Given the description of an element on the screen output the (x, y) to click on. 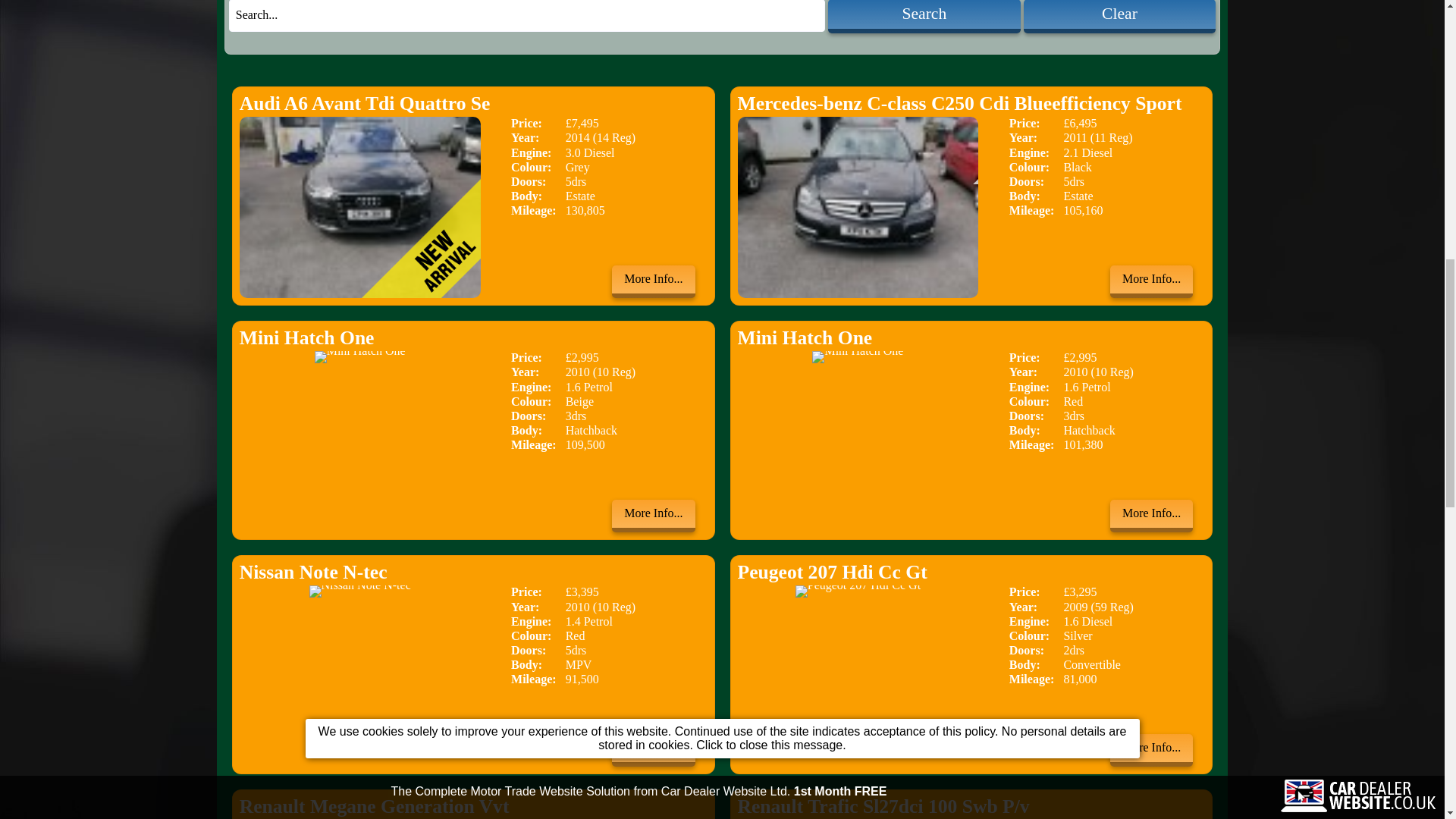
More Info... (1150, 281)
Mini Hatch One (970, 340)
Renault Megane Generation Vvt (473, 807)
More Info... (652, 515)
More Info... (1150, 515)
Audi A6 Avant Tdi Quattro Se (473, 105)
Peugeot 207 Hdi Cc Gt (970, 574)
More Info... (1150, 749)
Mercedes-benz C-class C250 Cdi Blueefficiency Sport (970, 105)
Nissan Note N-tec (473, 574)
